Given the description of an element on the screen output the (x, y) to click on. 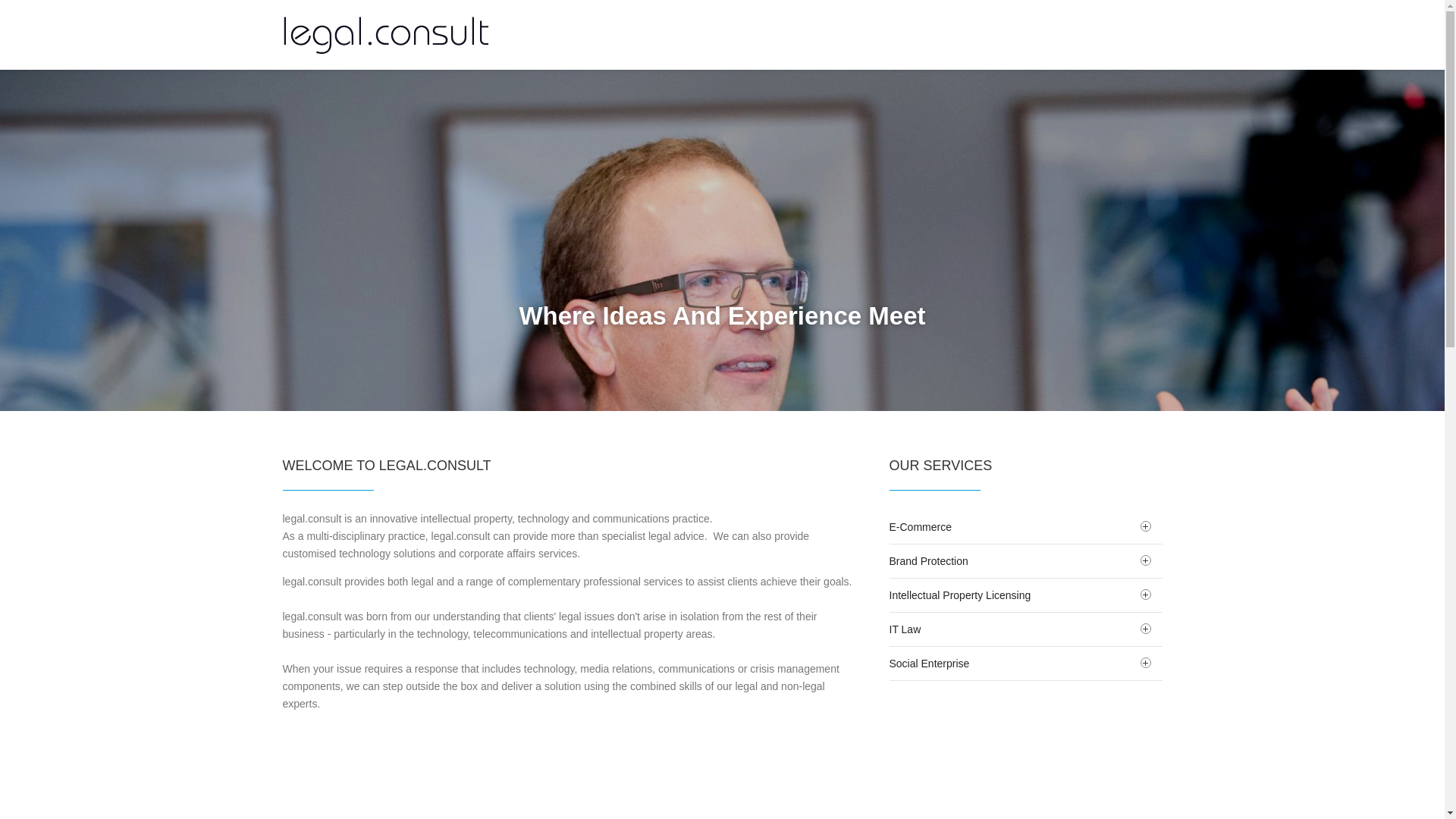
Social Enterprise Element type: text (1024, 663)
Home Element type: hover (388, 34)
Intellectual Property Licensing Element type: text (1024, 594)
Brand Protection Element type: text (1024, 560)
E-Commerce Element type: text (1024, 526)
Skip to main content Element type: text (48, 0)
IT Law Element type: text (1024, 629)
